Given the description of an element on the screen output the (x, y) to click on. 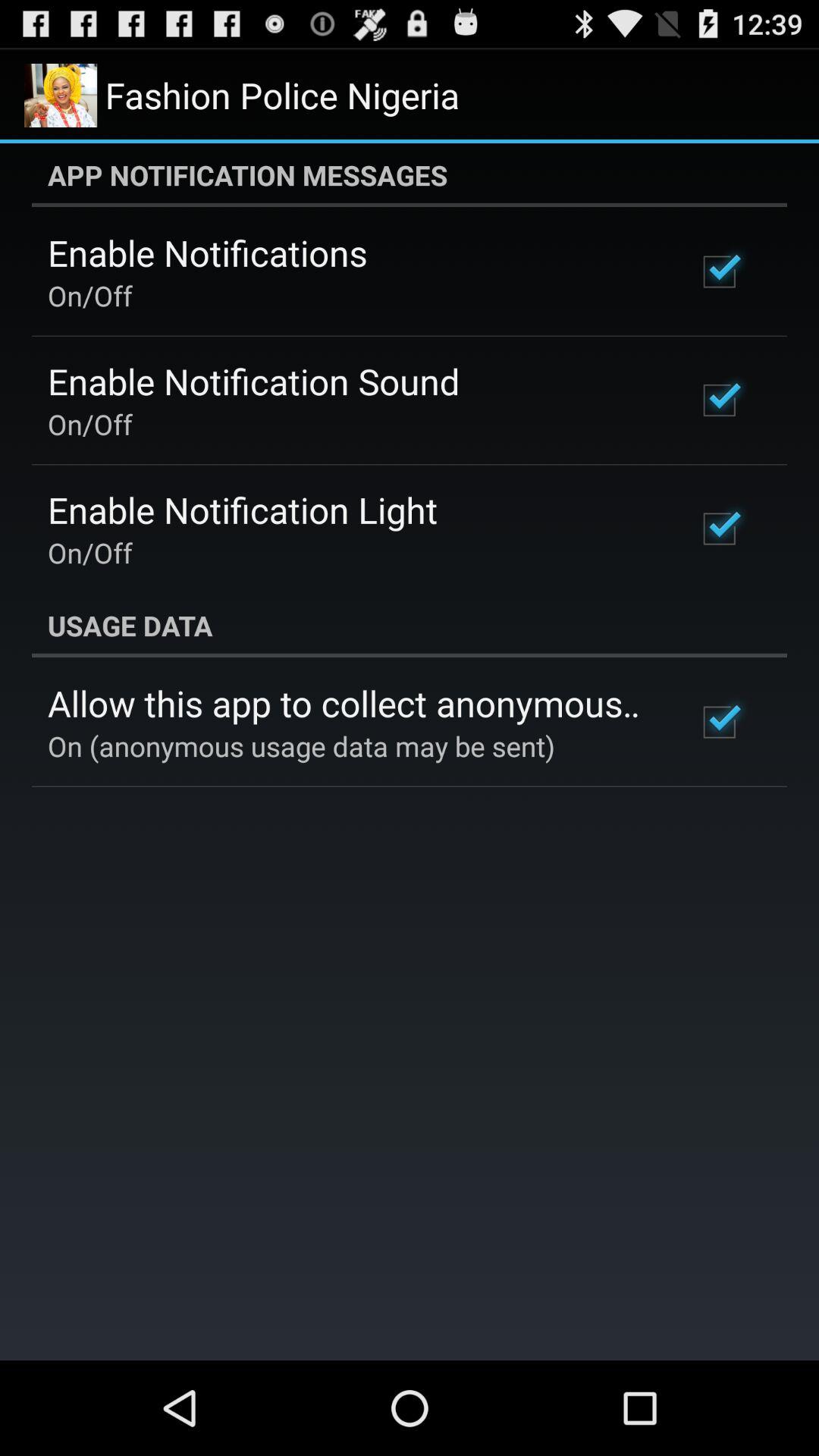
select the icon above on/off app (207, 252)
